Given the description of an element on the screen output the (x, y) to click on. 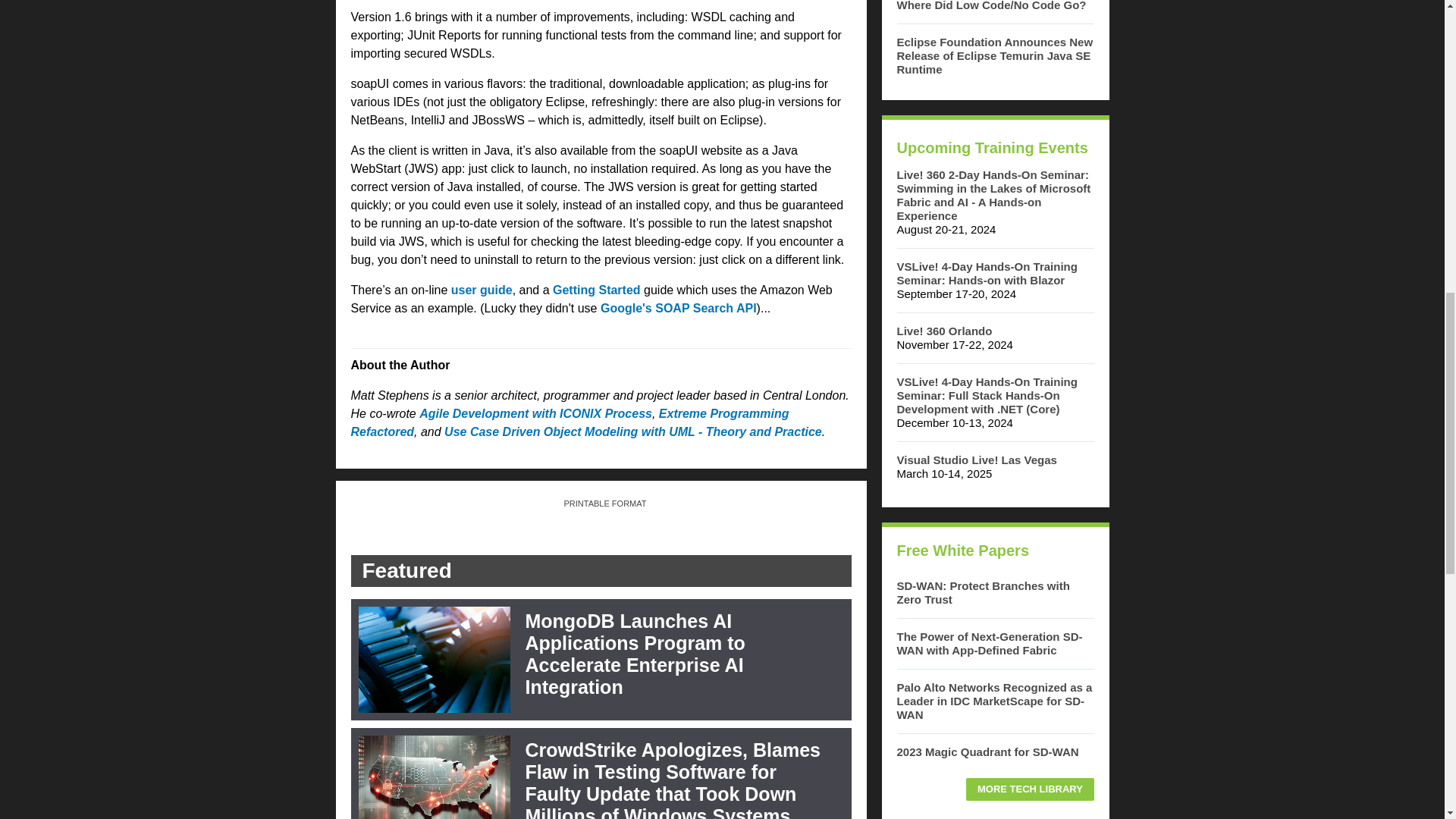
Agile Development with ICONIX Process (535, 413)
Getting Started (596, 289)
PRINTABLE FORMAT (598, 502)
Google's SOAP Search API (678, 308)
Extreme Programming Refactored (569, 422)
user guide (481, 289)
